Given the description of an element on the screen output the (x, y) to click on. 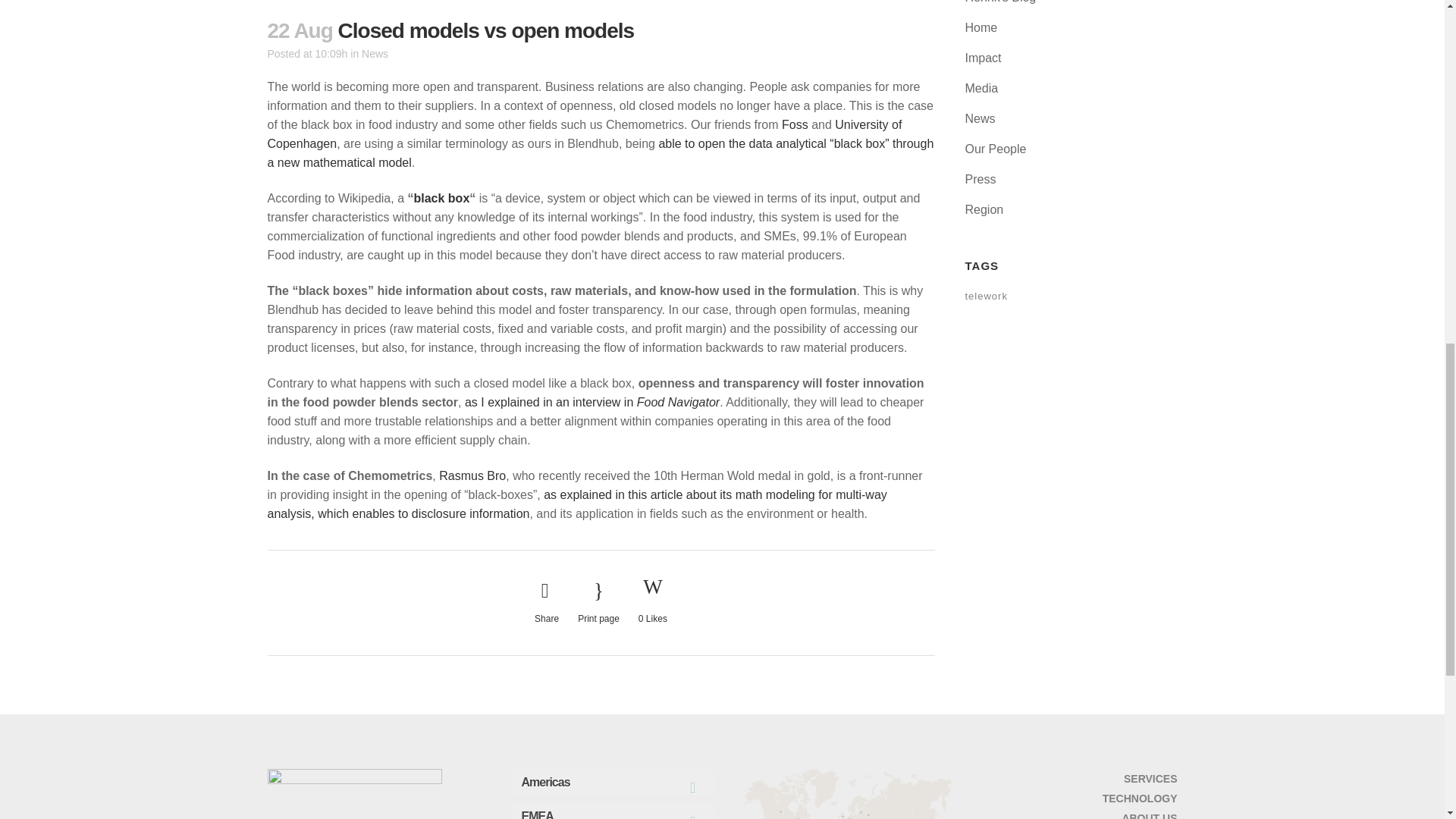
black box (440, 197)
Rasmus Bro (472, 475)
News (374, 53)
University of Copenhagen (583, 133)
Foss (794, 124)
as I explained in an interview in Food Navigator (591, 401)
